Given the description of an element on the screen output the (x, y) to click on. 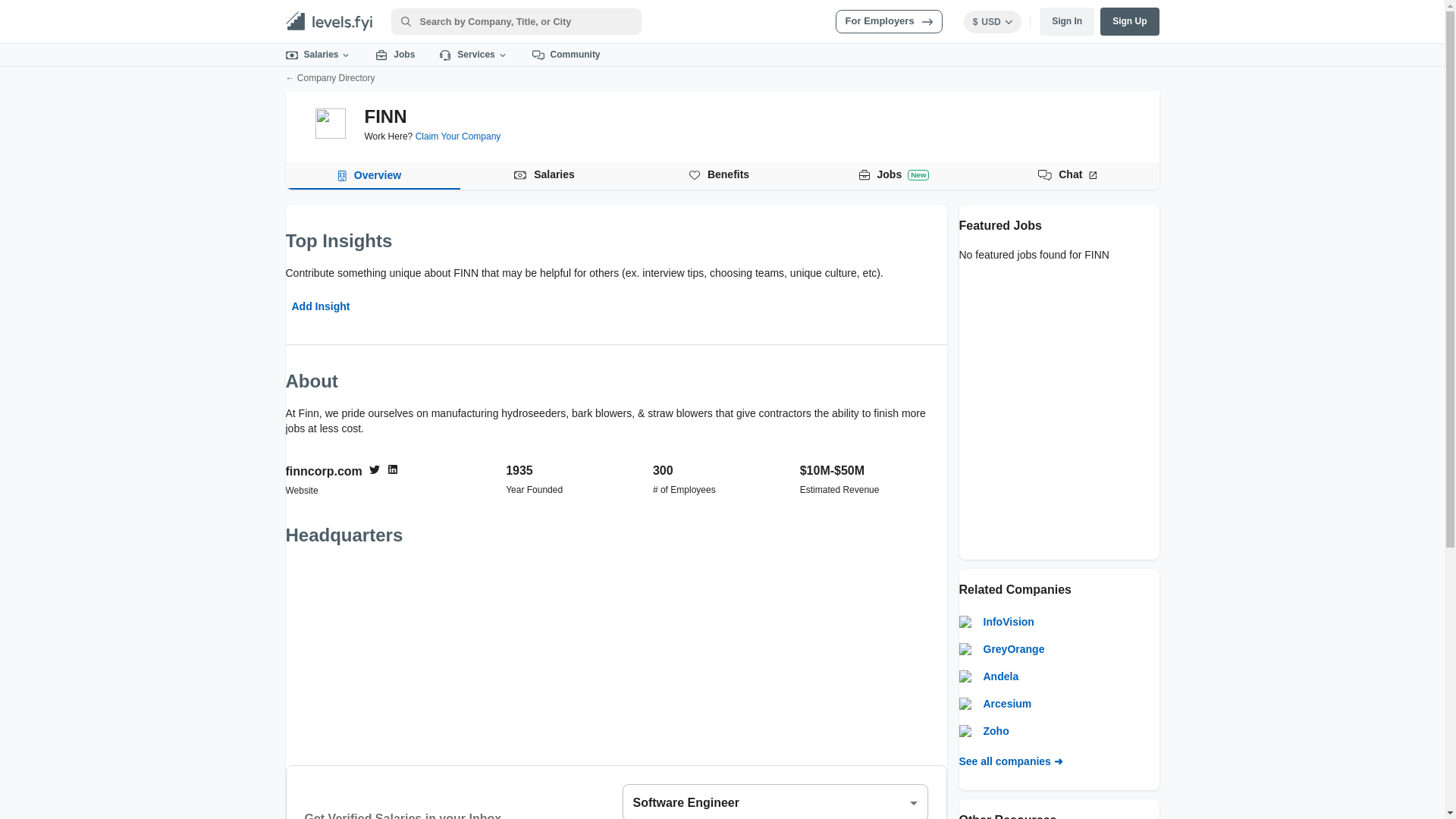
Company Address (615, 654)
Salaries (317, 55)
Sign In (1066, 21)
Sign Up (1129, 21)
For Employers (721, 175)
